Given the description of an element on the screen output the (x, y) to click on. 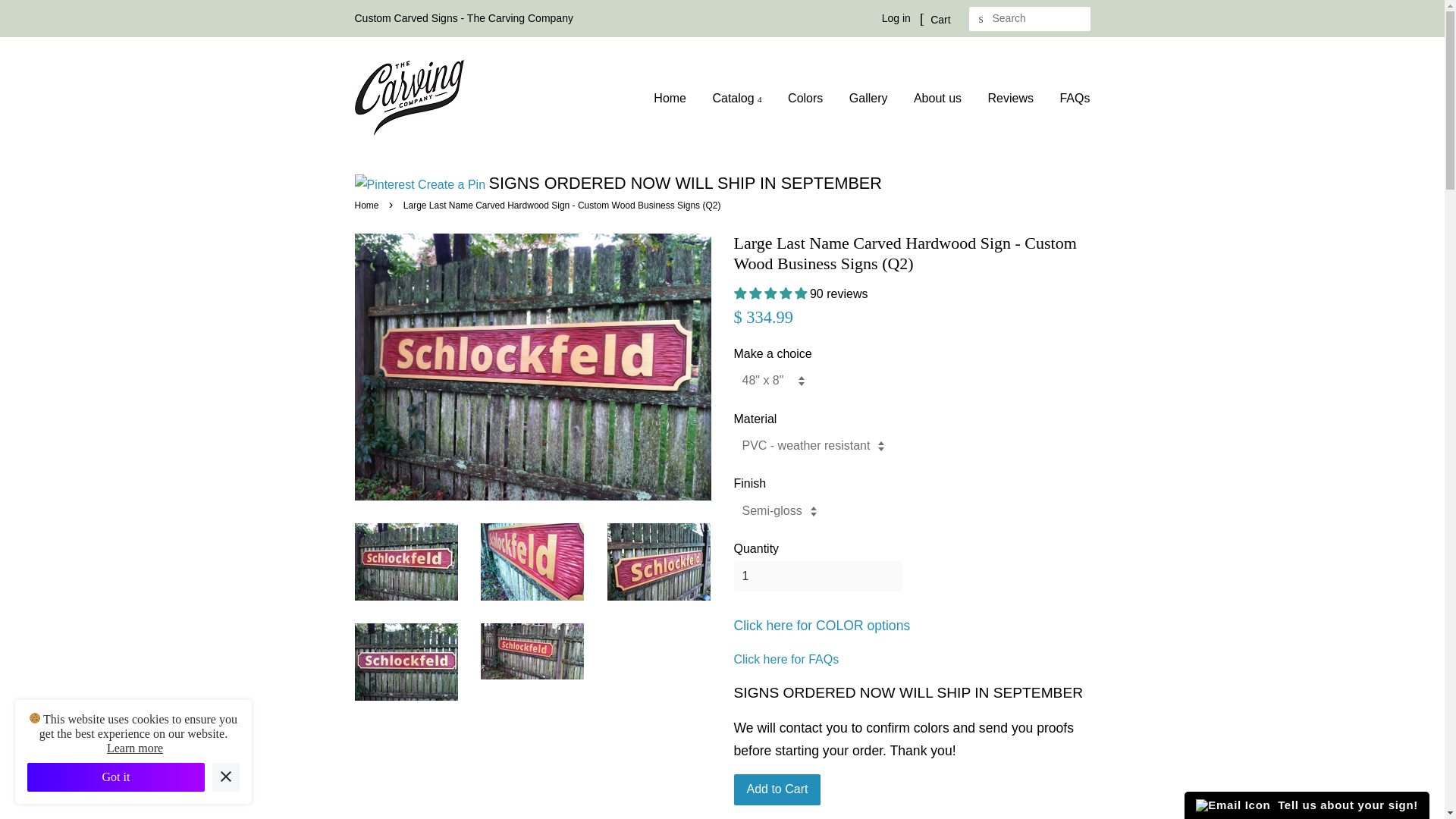
Cart (935, 18)
Search (980, 18)
Back to the frontpage (368, 204)
Catalog (736, 97)
Colors (805, 97)
Home (675, 97)
1 (817, 576)
Log in (896, 18)
